Given the description of an element on the screen output the (x, y) to click on. 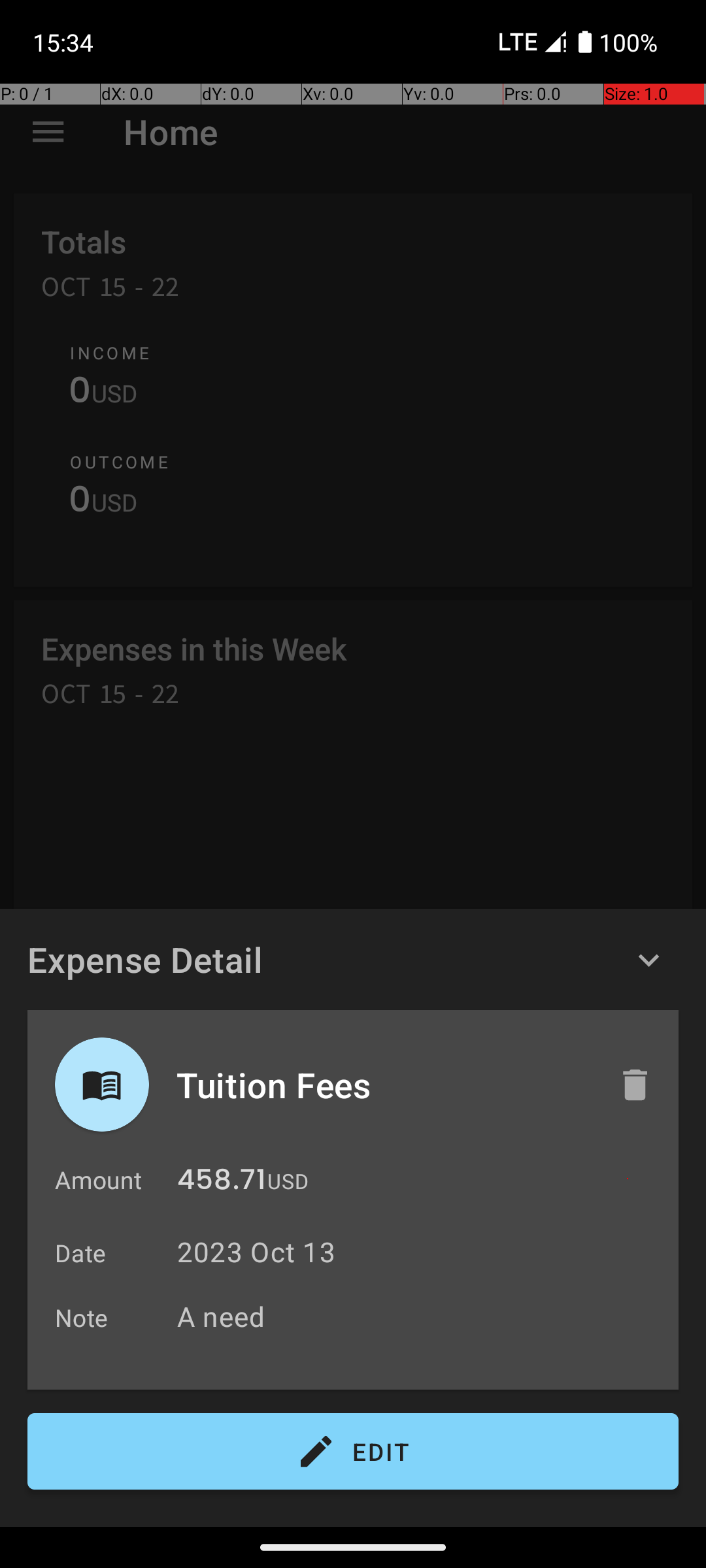
Tuition Fees Element type: android.widget.TextView (383, 1084)
458.71 Element type: android.widget.TextView (221, 1182)
